Given the description of an element on the screen output the (x, y) to click on. 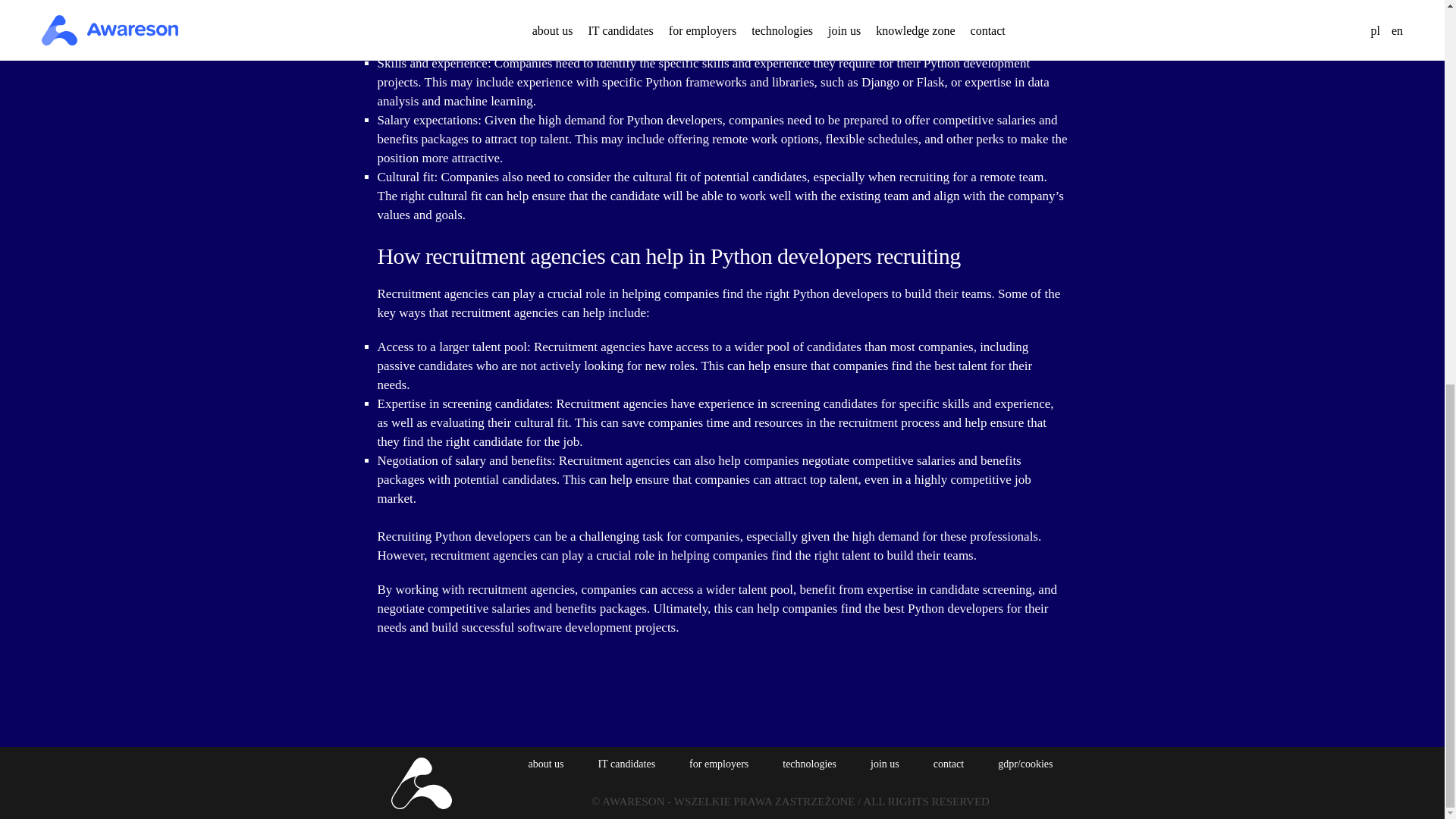
about us (545, 763)
for employers (718, 763)
contact (948, 763)
technologies (809, 763)
join us (884, 763)
IT candidates (627, 763)
